Given the description of an element on the screen output the (x, y) to click on. 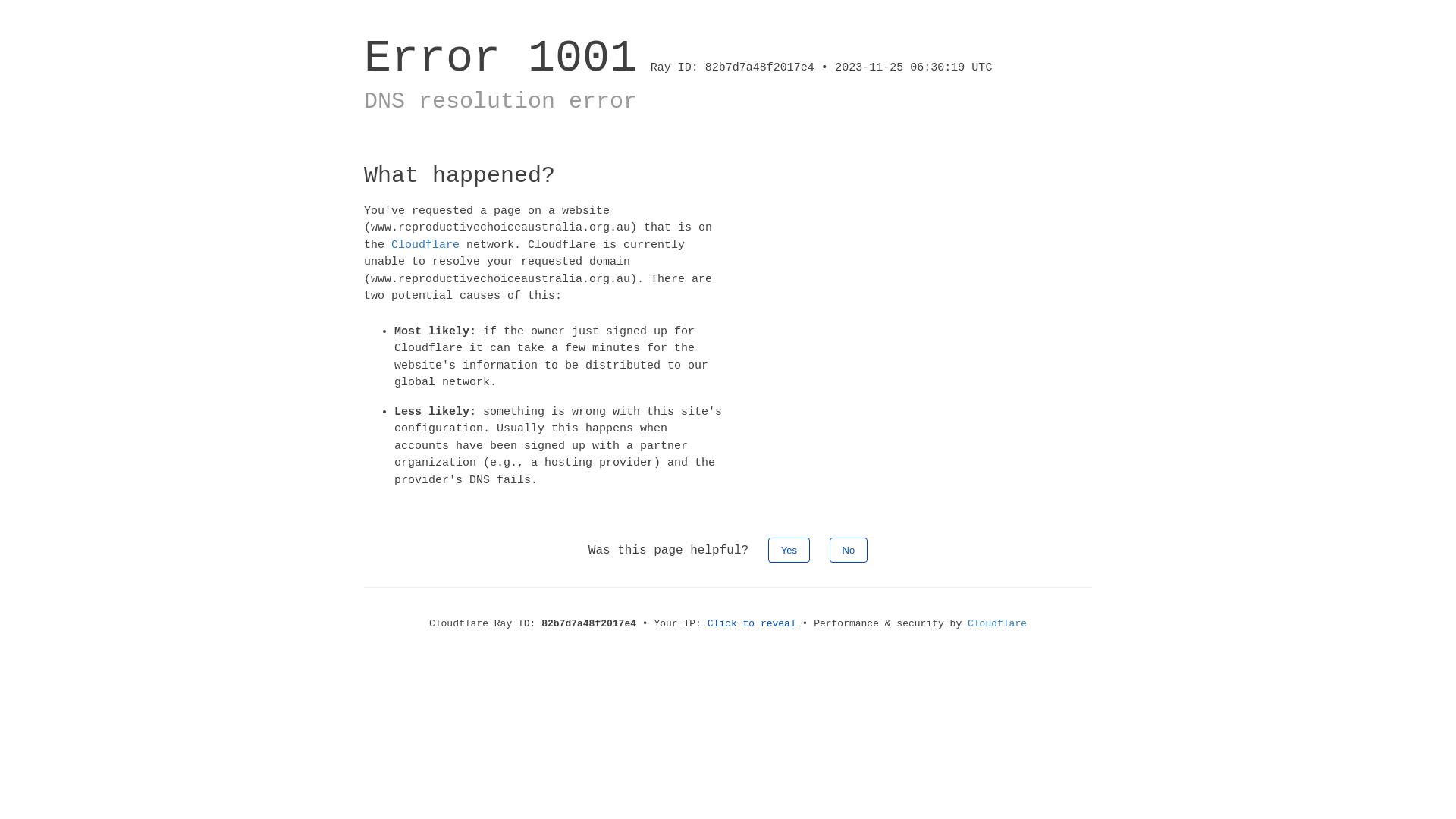
Cloudflare Element type: text (996, 623)
Yes Element type: text (788, 549)
Cloudflare Element type: text (425, 244)
Click to reveal Element type: text (751, 623)
No Element type: text (848, 549)
